Given the description of an element on the screen output the (x, y) to click on. 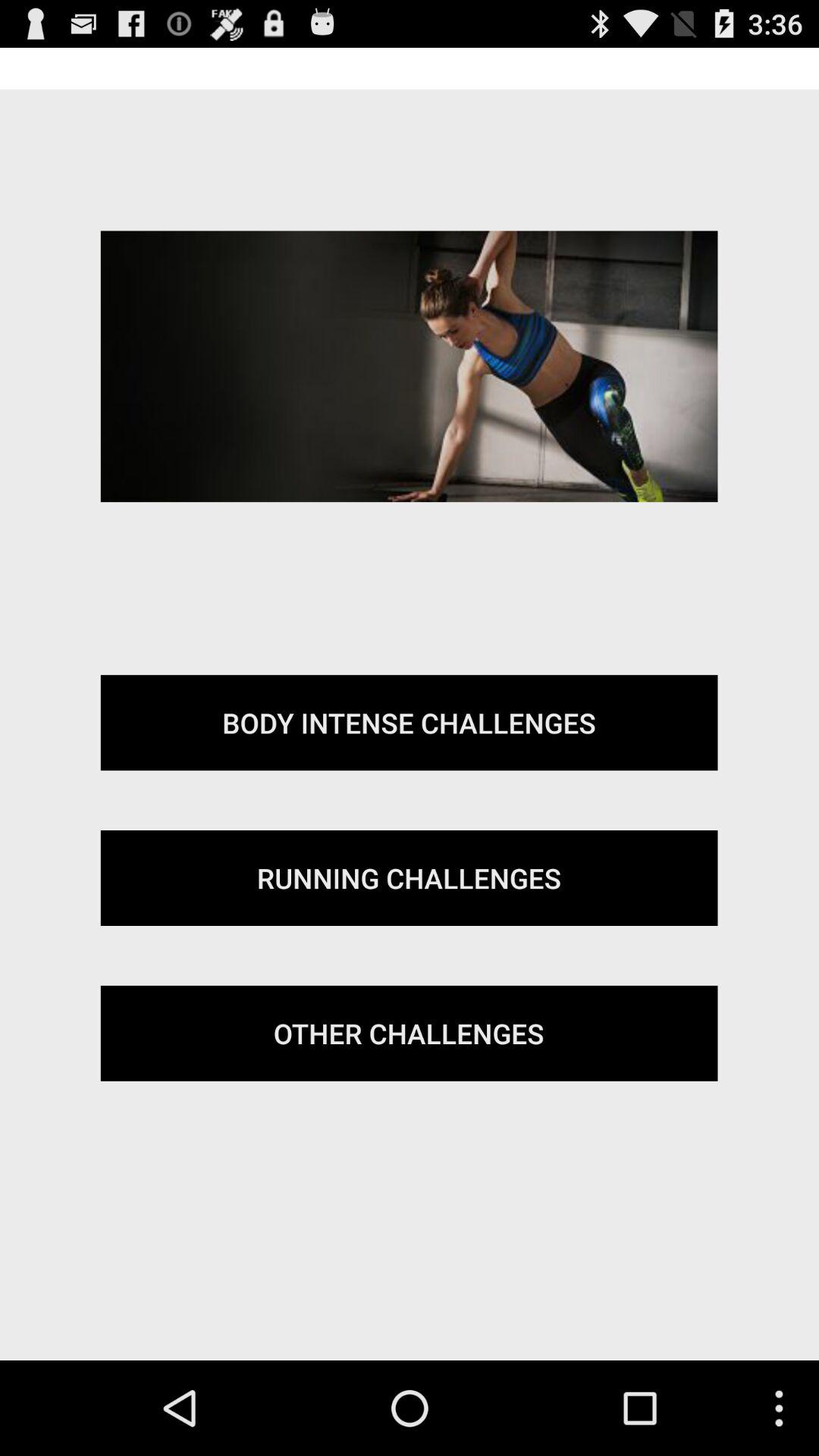
press the running challenges item (408, 877)
